Given the description of an element on the screen output the (x, y) to click on. 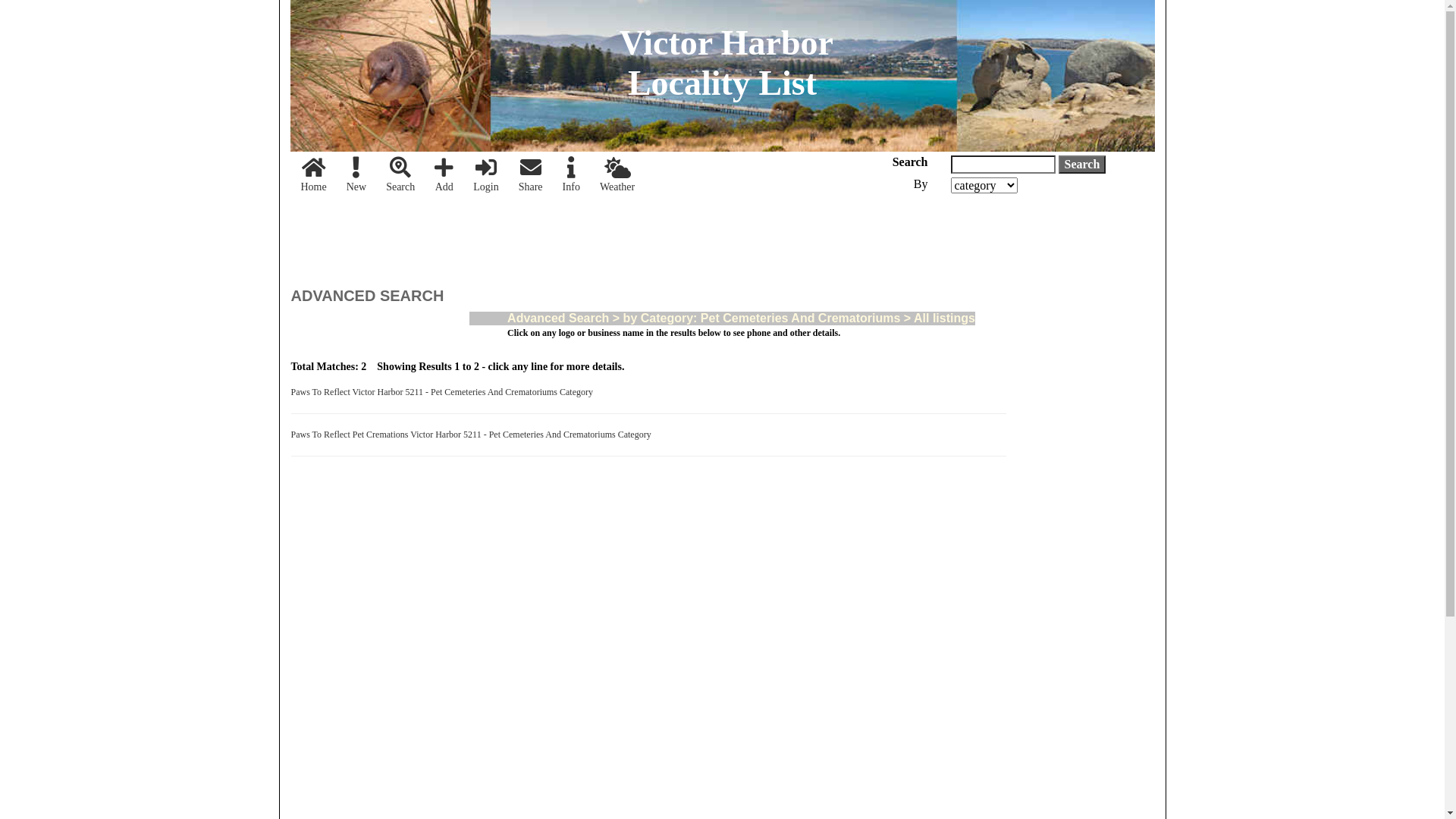
New Element type: text (356, 175)
Login Element type: text (485, 175)
Advertisement Element type: hover (567, 234)
Info Element type: text (570, 175)
Search Element type: text (400, 175)
Weather Element type: text (616, 175)
Share Element type: text (530, 175)
Search Element type: text (1082, 164)
Home Element type: text (313, 175)
Add Element type: text (443, 175)
